Given the description of an element on the screen output the (x, y) to click on. 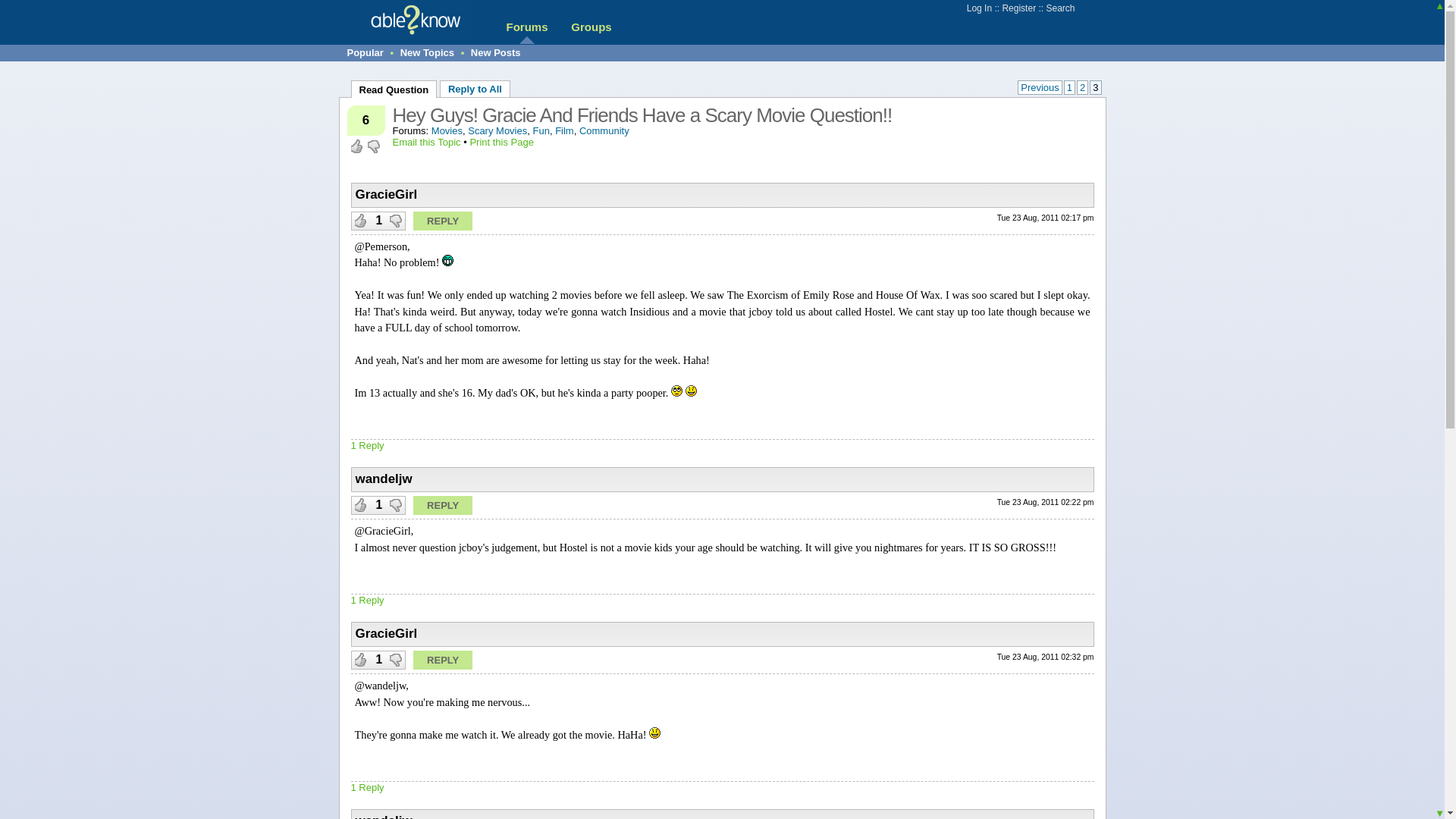
Scary Movies (497, 130)
Groups (590, 26)
Previous (1039, 87)
Register (1018, 8)
Print this Page (501, 142)
Fun Forum (540, 130)
New Posts (495, 52)
Film Forum (563, 130)
Popular (365, 52)
New Topics (427, 52)
Log In (978, 8)
New Topics (427, 52)
Fun (540, 130)
Previous Page (1039, 87)
Reply to All (475, 88)
